Given the description of an element on the screen output the (x, y) to click on. 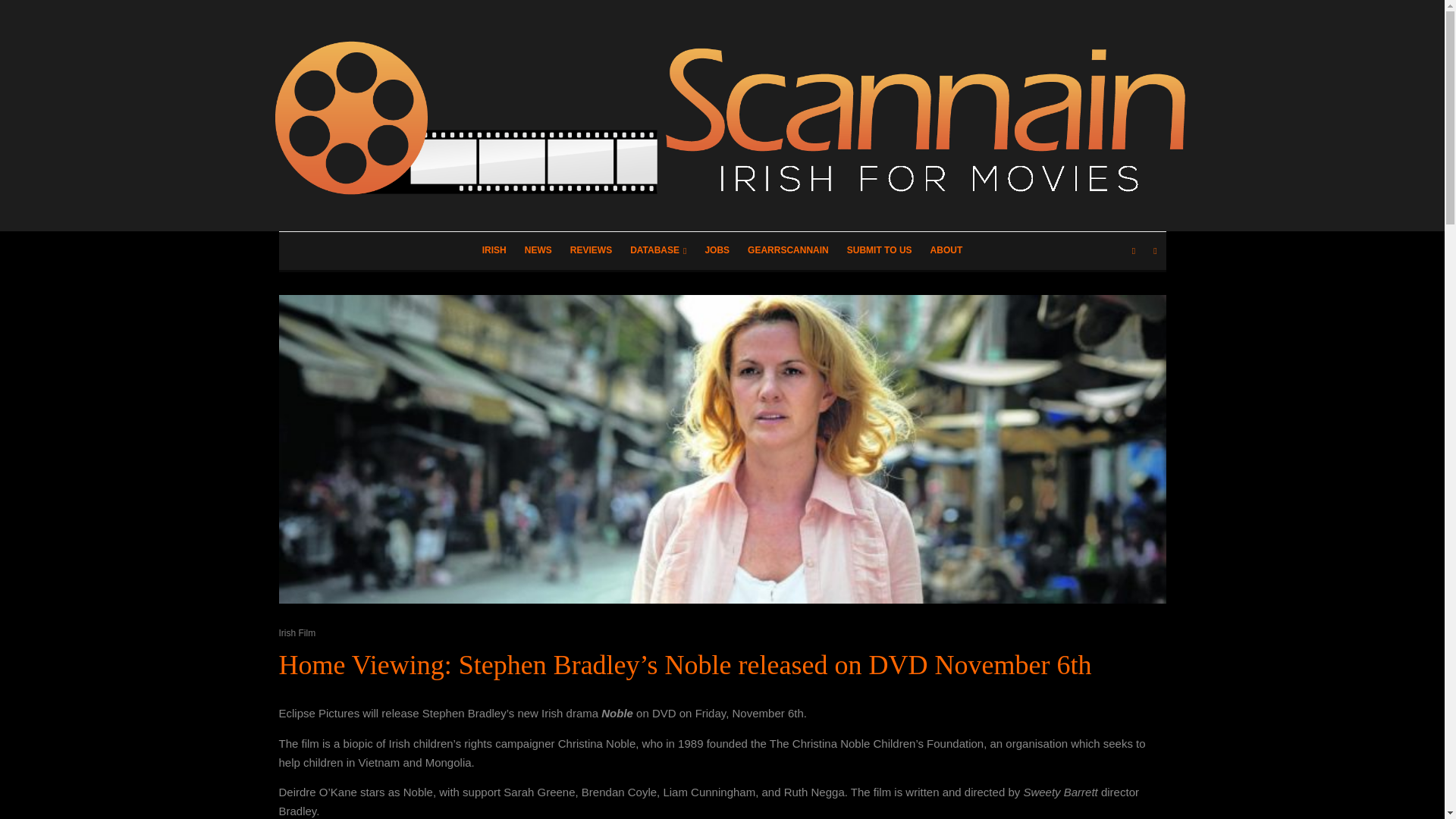
DATABASE (658, 250)
IRISH (494, 250)
REVIEWS (590, 250)
NEWS (537, 250)
